Given the description of an element on the screen output the (x, y) to click on. 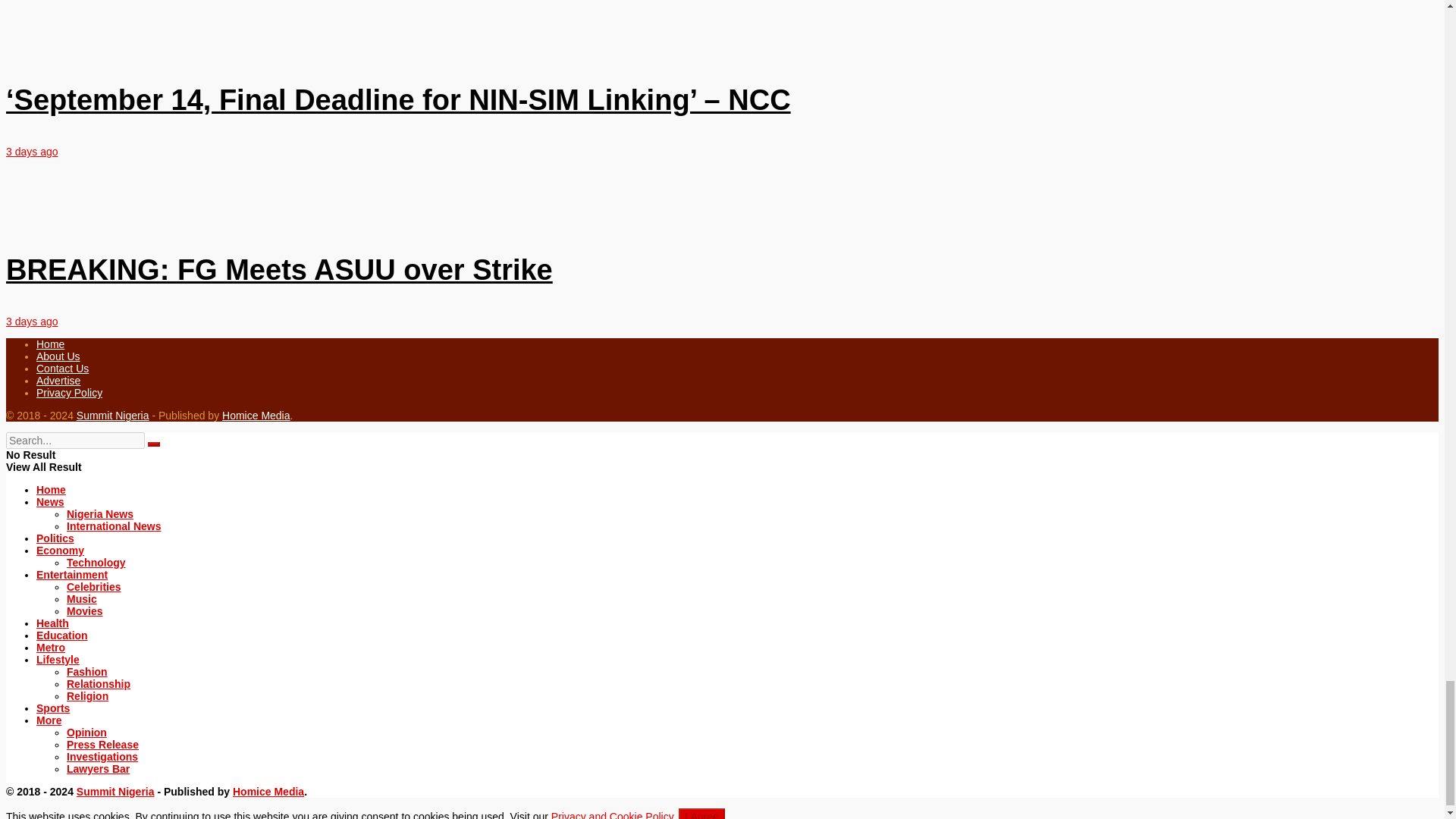
Summit News Nigeria (113, 415)
Homice Media (268, 791)
Summit News Nigeria (115, 791)
Homice Media (255, 415)
